Given the description of an element on the screen output the (x, y) to click on. 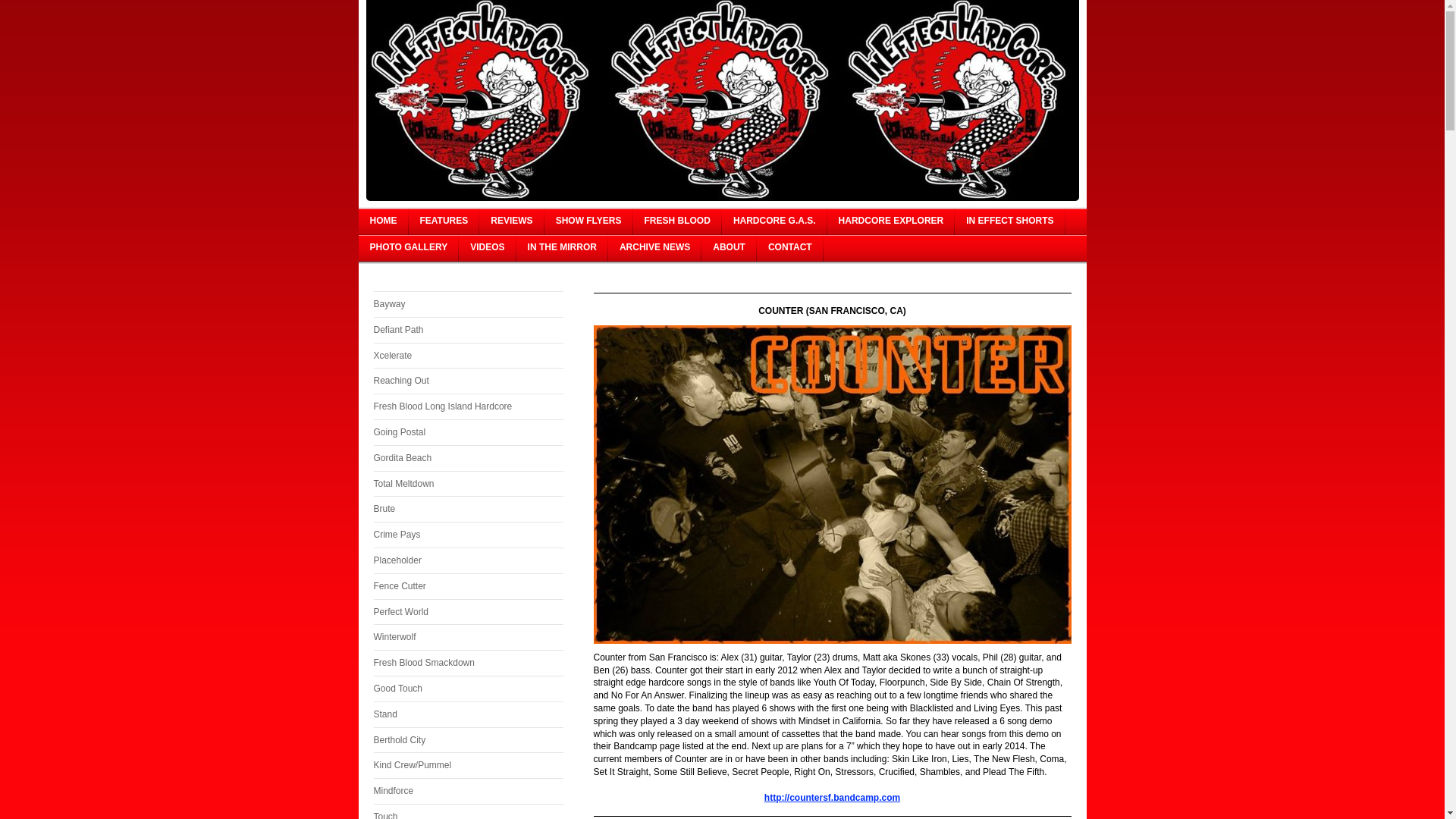
Good Touch (467, 688)
Stand (467, 714)
Going Postal (467, 432)
HOME (382, 221)
Touch (467, 811)
HARDCORE EXPLORER (891, 221)
IN EFFECT SHORTS (1009, 221)
PHOTO GALLERY (408, 248)
SHOW FLYERS (588, 221)
FEATURES (443, 221)
VIDEOS (486, 248)
Crime Pays (467, 534)
Xcelerate (467, 356)
Winterwolf (467, 637)
CONTACT (790, 248)
